Given the description of an element on the screen output the (x, y) to click on. 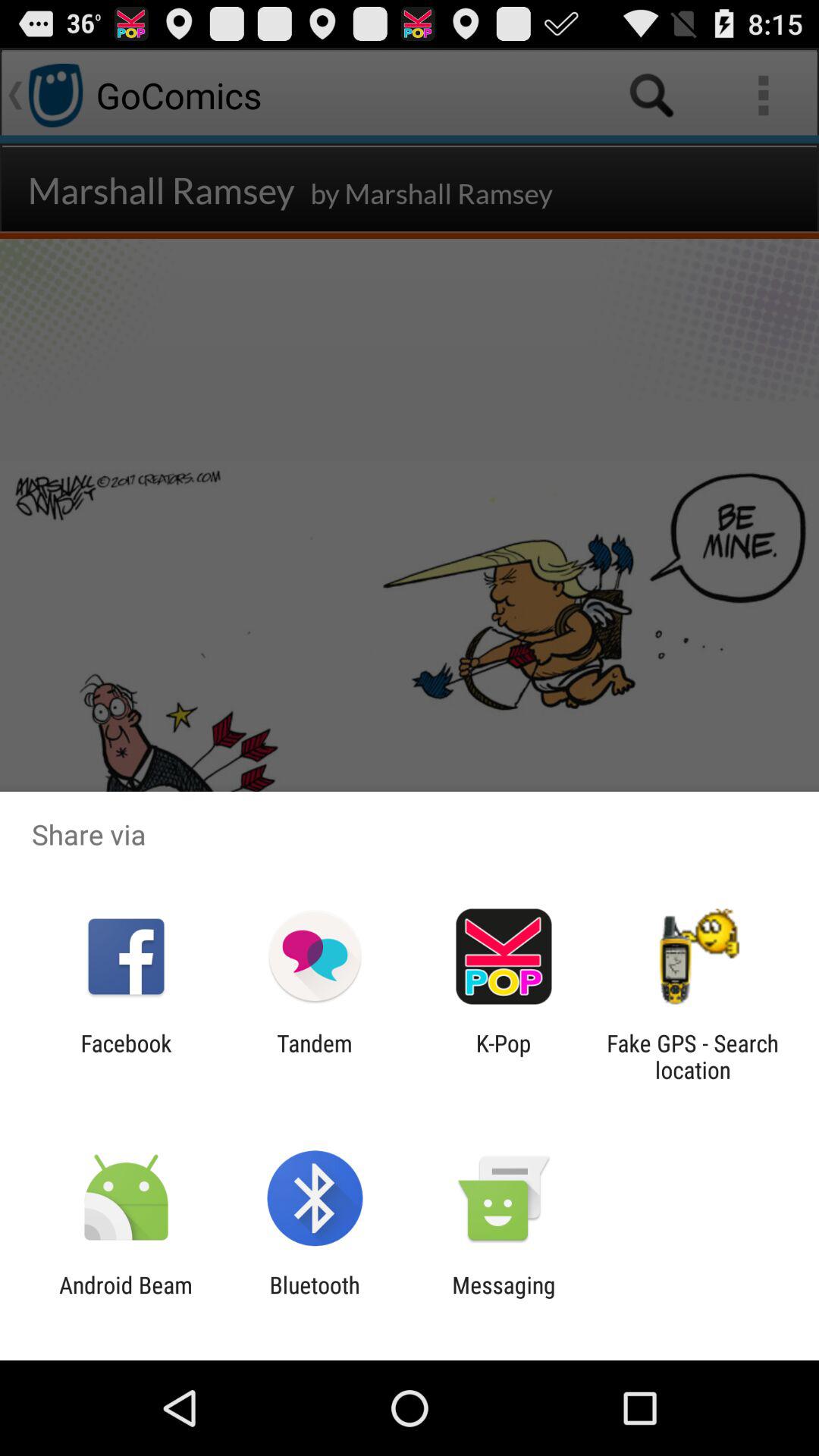
press the item to the right of bluetooth (503, 1298)
